Given the description of an element on the screen output the (x, y) to click on. 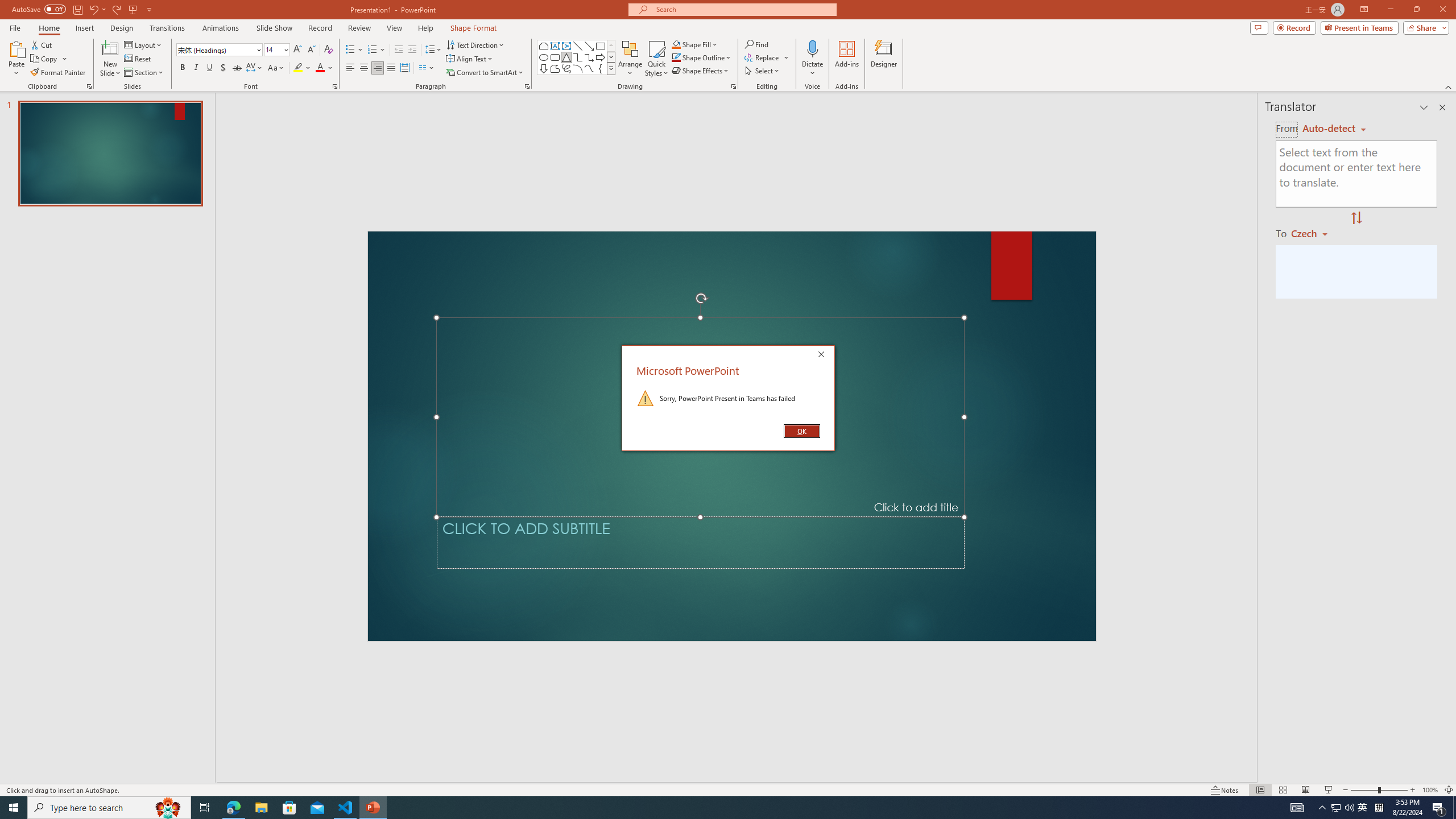
Rectangle: Top Corners Snipped (543, 45)
